Given the description of an element on the screen output the (x, y) to click on. 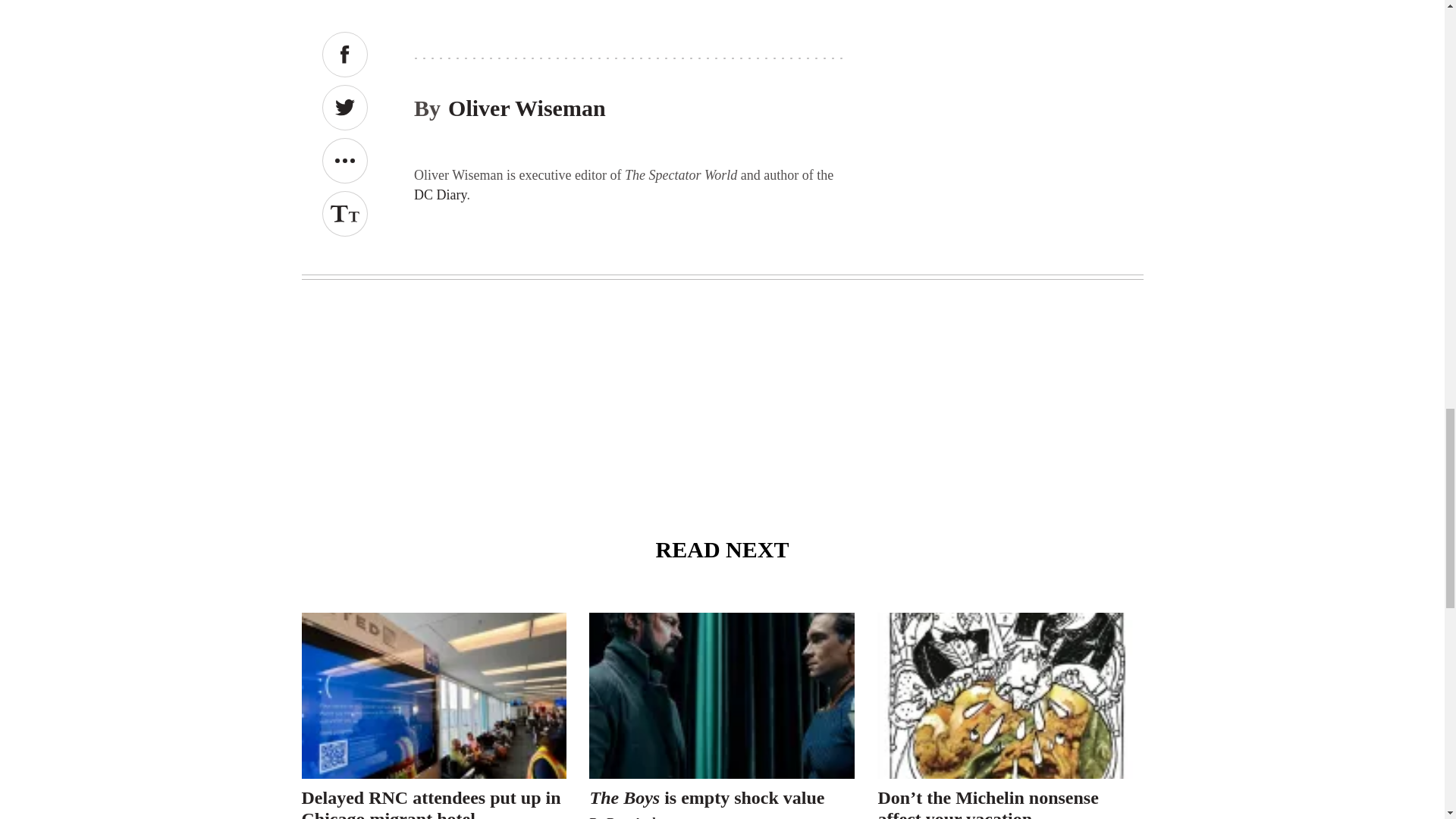
DC Diary (439, 194)
offer-0-a3IZU (630, 10)
Oliver Wiseman (526, 107)
